Given the description of an element on the screen output the (x, y) to click on. 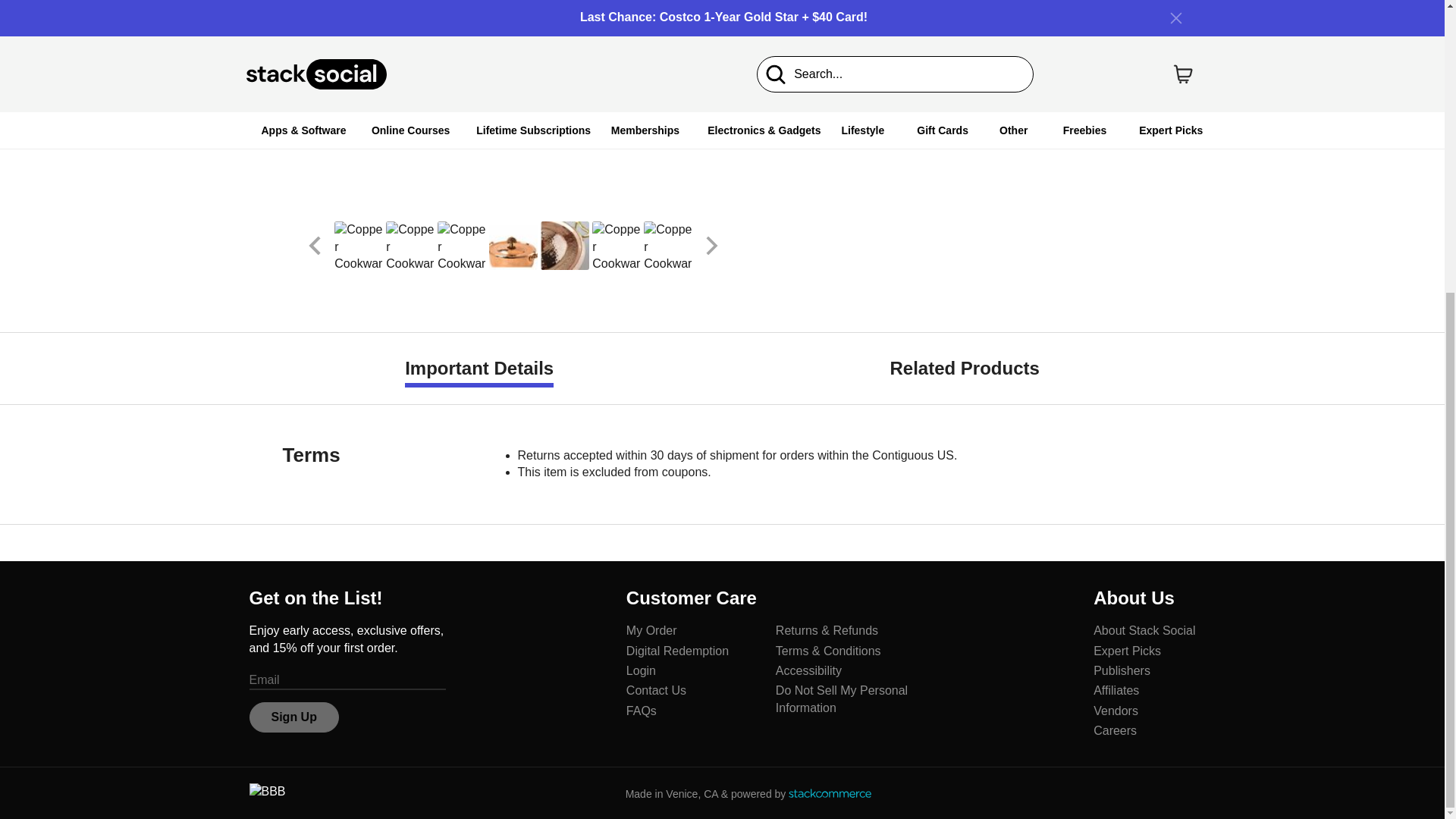
StackCommerce (829, 793)
